Given the description of an element on the screen output the (x, y) to click on. 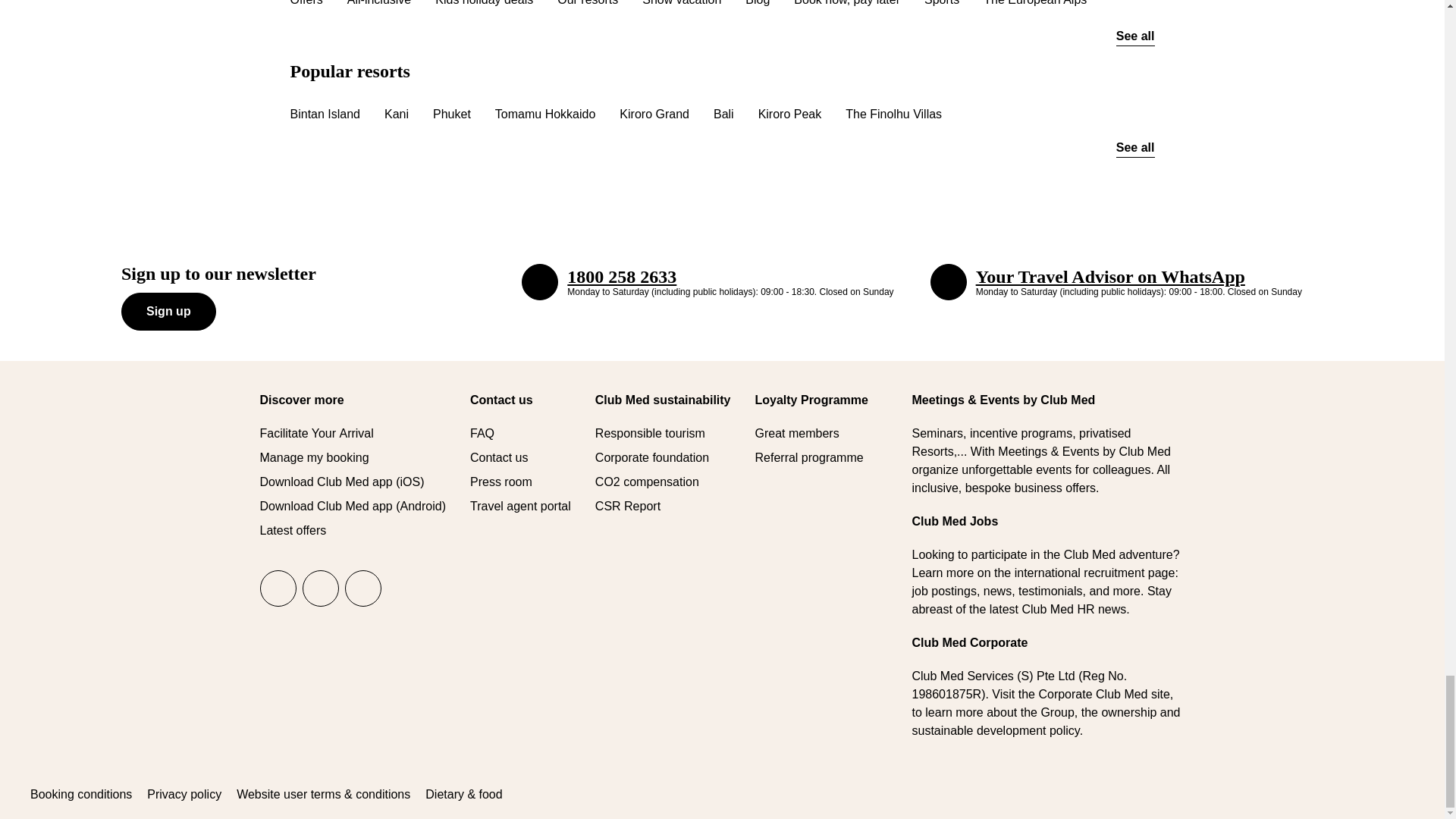
1800 258 2633 (539, 281)
Sign up (167, 311)
Your Travel Advisor on WhatsApp (948, 281)
